Given the description of an element on the screen output the (x, y) to click on. 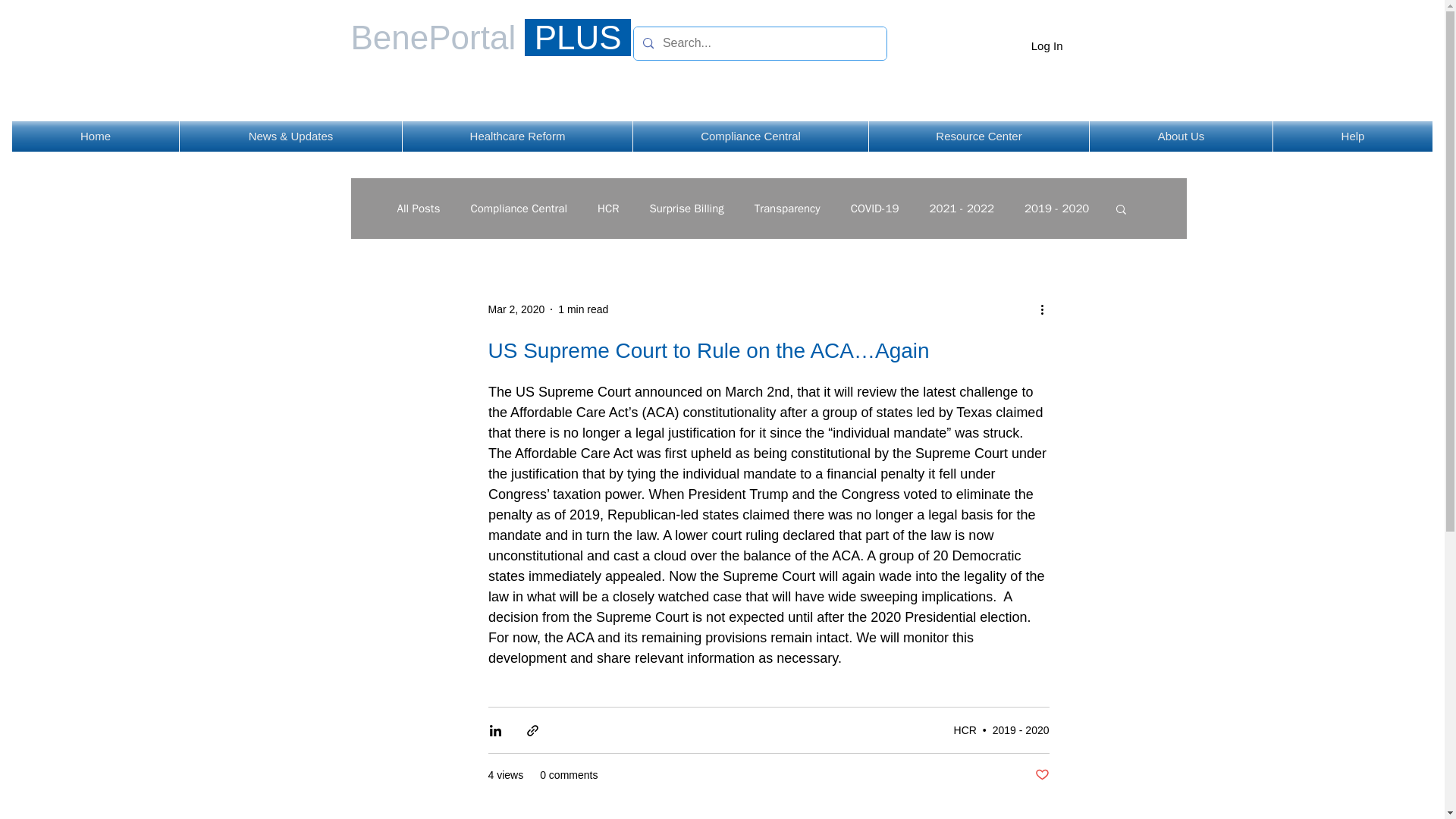
Help (1352, 136)
Compliance Central (518, 208)
Mar 2, 2020 (515, 309)
About Us (1180, 136)
Healthcare Reform (517, 136)
Compliance Central (750, 136)
Log In (1047, 45)
Resource Center (979, 136)
Home (95, 136)
All Posts (419, 208)
